Given the description of an element on the screen output the (x, y) to click on. 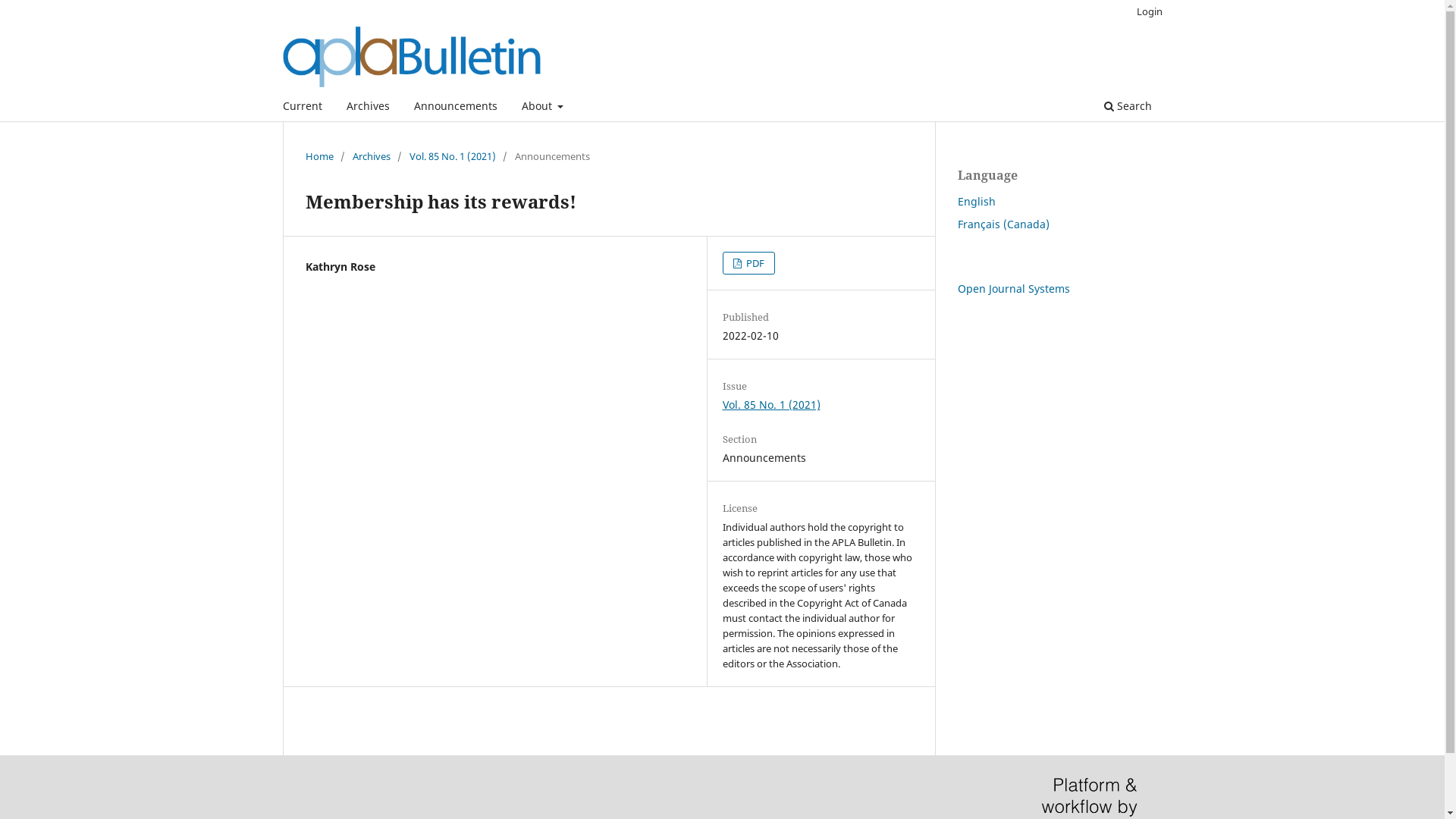
Home Element type: text (318, 155)
English Element type: text (975, 201)
Login Element type: text (1149, 11)
Vol. 85 No. 1 (2021) Element type: text (452, 155)
Current Element type: text (302, 107)
Open Journal Systems Element type: text (1013, 288)
Search Element type: text (1127, 107)
PDF Element type: text (748, 262)
About Element type: text (541, 107)
Vol. 85 No. 1 (2021) Element type: text (771, 404)
Archives Element type: text (370, 155)
Announcements Element type: text (454, 107)
Archives Element type: text (368, 107)
